Given the description of an element on the screen output the (x, y) to click on. 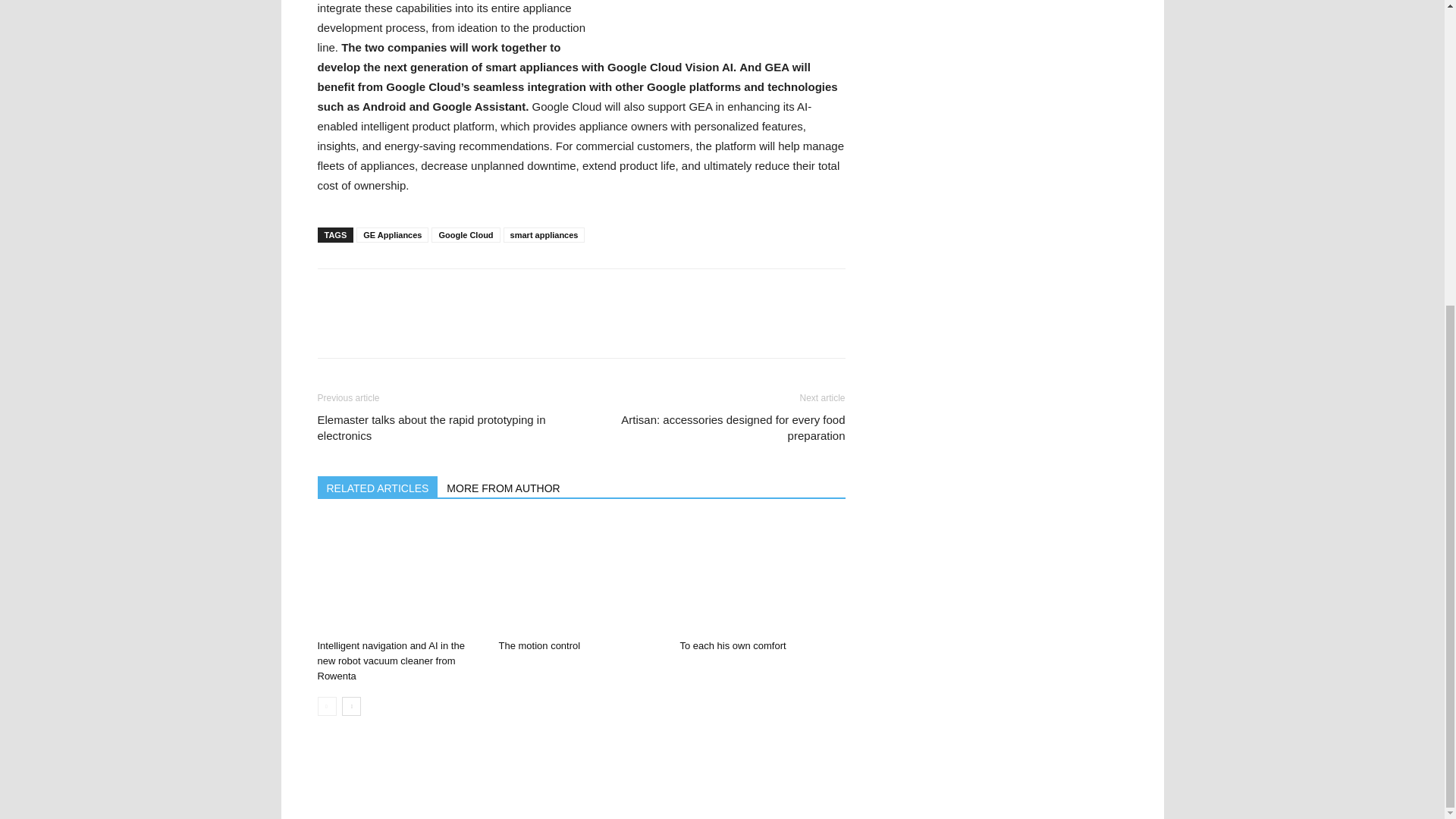
The motion control (538, 645)
To each his own comfort (761, 576)
To each his own comfort (732, 645)
The motion control (580, 576)
